Given the description of an element on the screen output the (x, y) to click on. 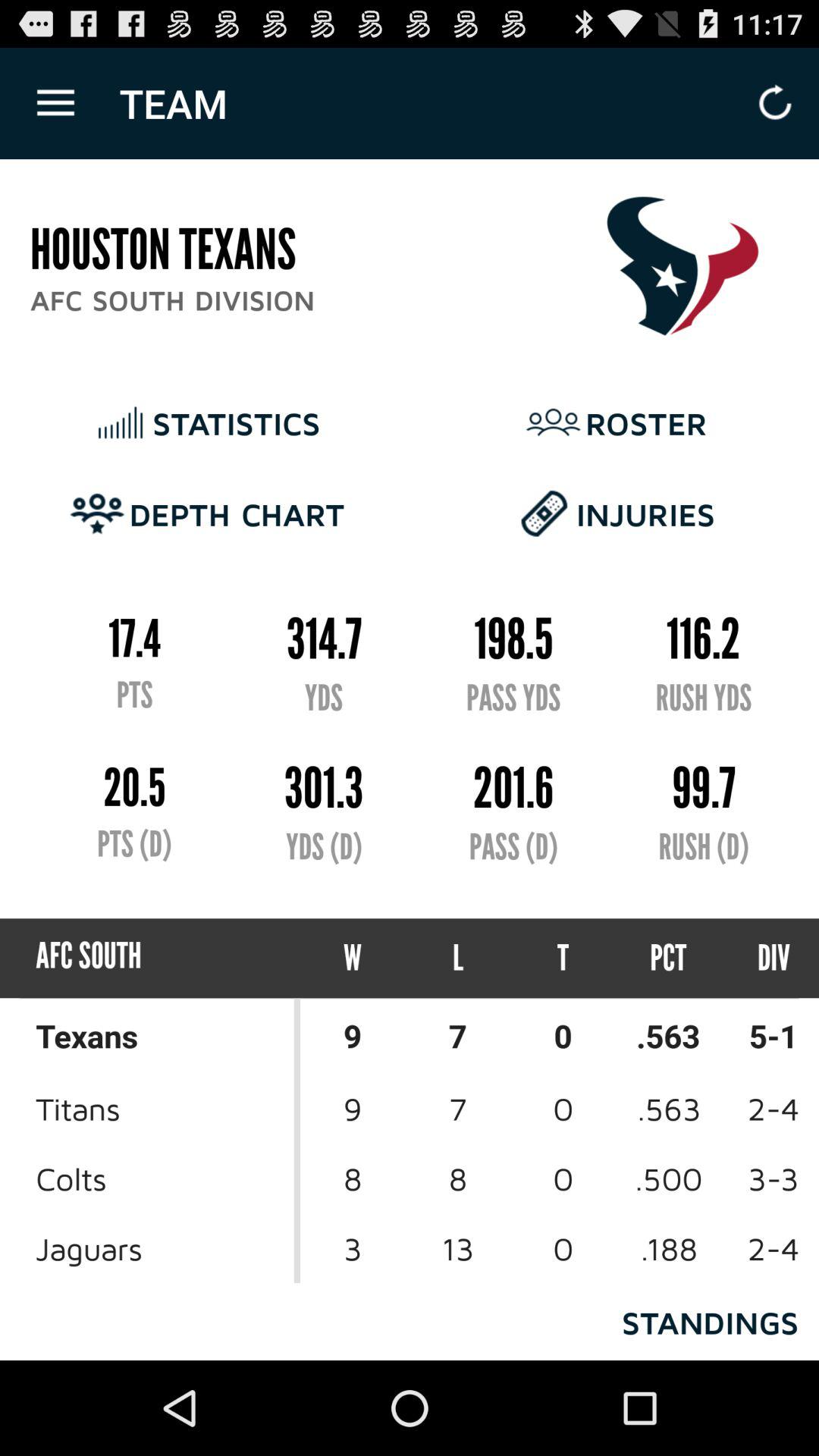
launch the item above .563 icon (760, 958)
